Given the description of an element on the screen output the (x, y) to click on. 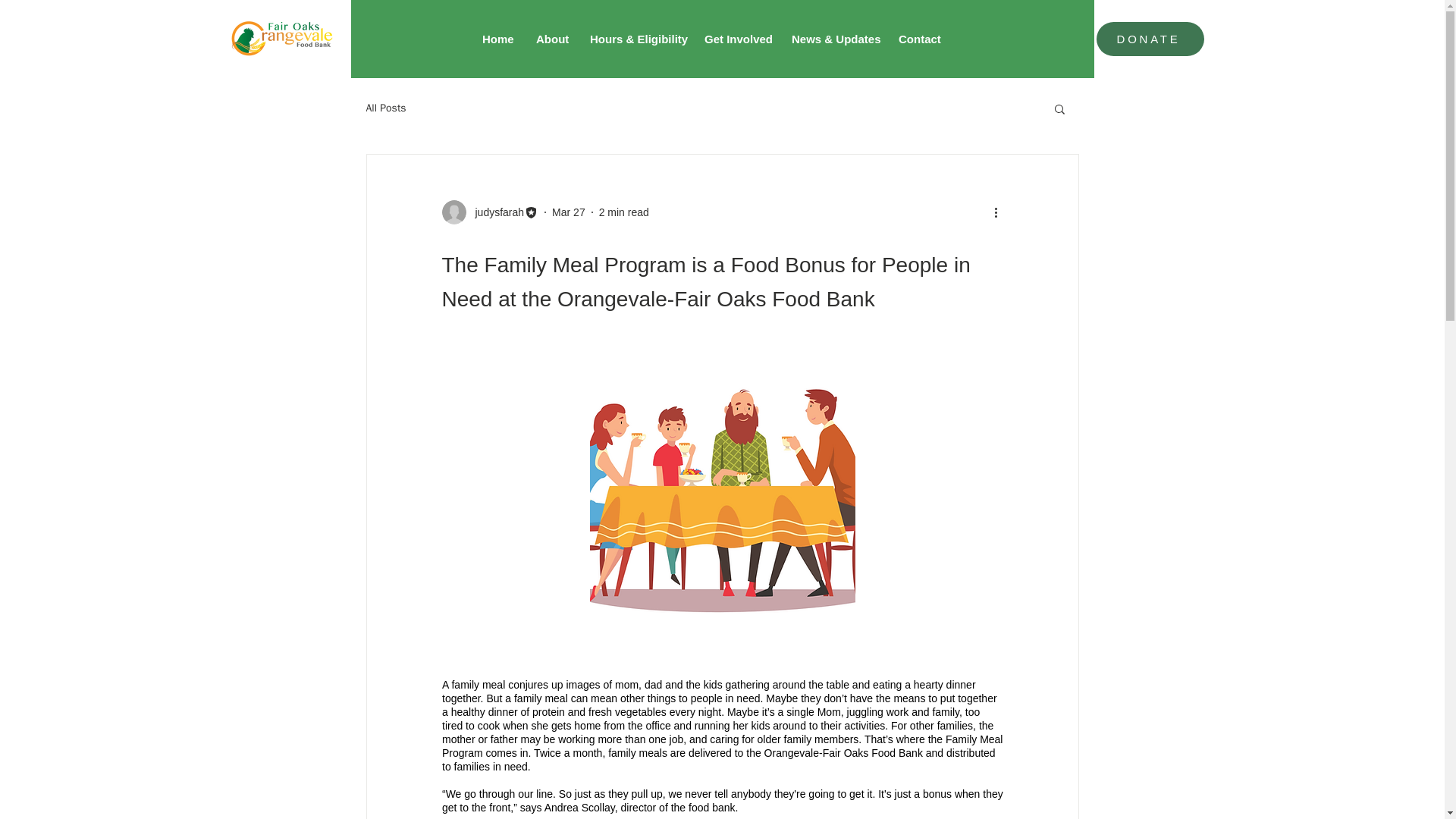
judysfarah (494, 212)
Mar 27 (568, 212)
Contact (918, 38)
2 min read (623, 212)
judysfarah (489, 211)
About (551, 38)
Home (497, 38)
All Posts (385, 108)
DONATE (1150, 39)
